Given the description of an element on the screen output the (x, y) to click on. 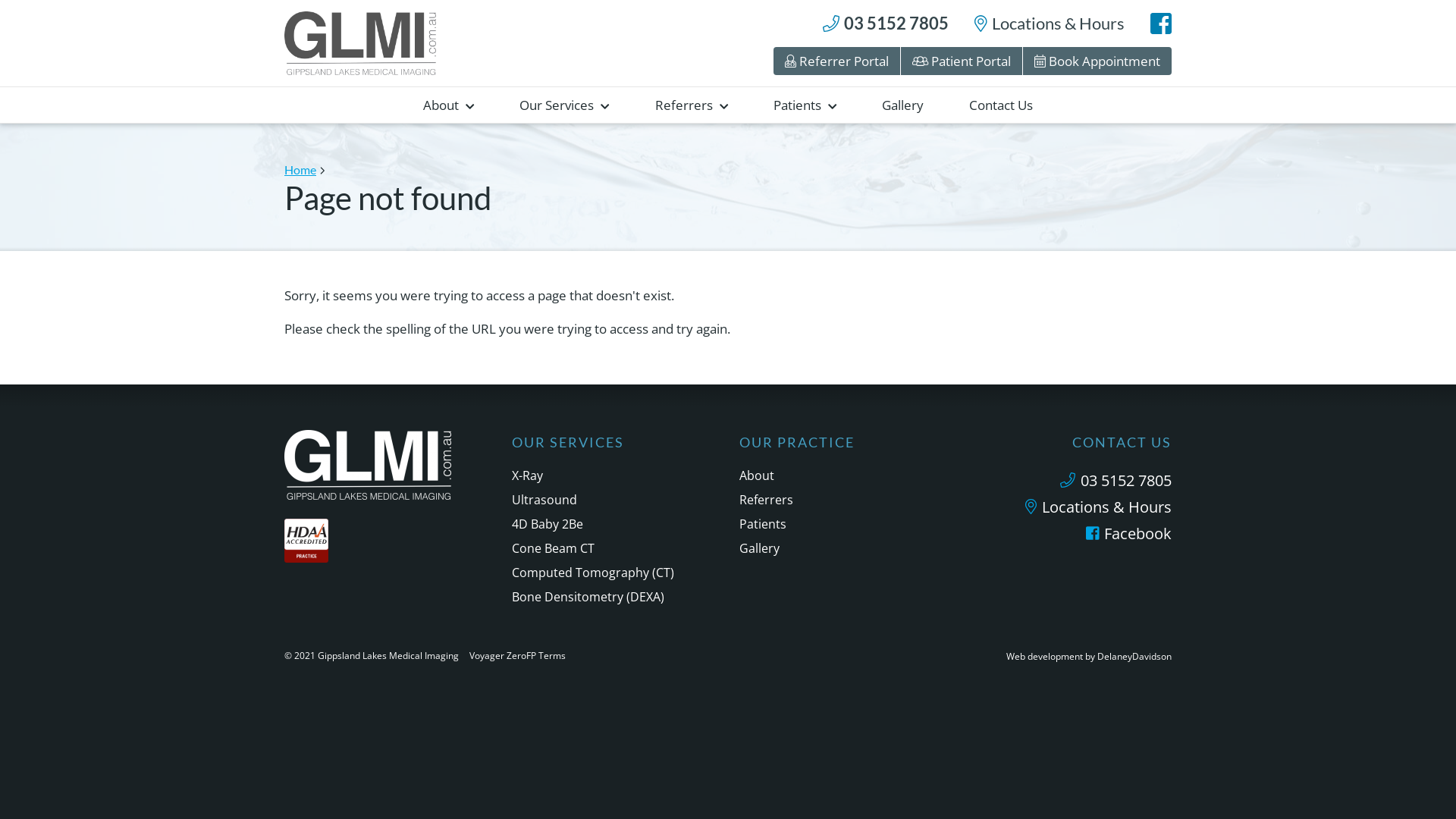
Locations & Hours Element type: text (1068, 508)
Patient Portal Element type: text (961, 61)
Contact Us Element type: text (1000, 104)
Gallery Element type: text (841, 548)
Bone Densitometry (DEXA) Element type: text (613, 596)
Referrers Element type: text (691, 104)
4D Baby 2Be Element type: text (613, 523)
Referrer Portal Element type: text (836, 61)
Our Services Element type: text (563, 104)
03 5152 7805 Element type: text (885, 23)
Patients Element type: text (841, 523)
Home Element type: text (304, 169)
Locations & Hours Element type: text (1049, 23)
Ultrasound Element type: text (613, 499)
X-Ray Element type: text (613, 475)
Book Appointment Element type: text (1096, 61)
03 5152 7805 Element type: text (1068, 482)
Cone Beam CT Element type: text (613, 548)
About Element type: text (448, 104)
Patients Element type: text (804, 104)
Voyager ZeroFP Terms Element type: text (517, 655)
Computed Tomography (CT) Element type: text (613, 572)
Referrers Element type: text (841, 499)
Facebook Element type: text (1068, 535)
About Element type: text (841, 475)
Web development by DelaneyDavidson Element type: text (1088, 655)
Gallery Element type: text (902, 104)
